Given the description of an element on the screen output the (x, y) to click on. 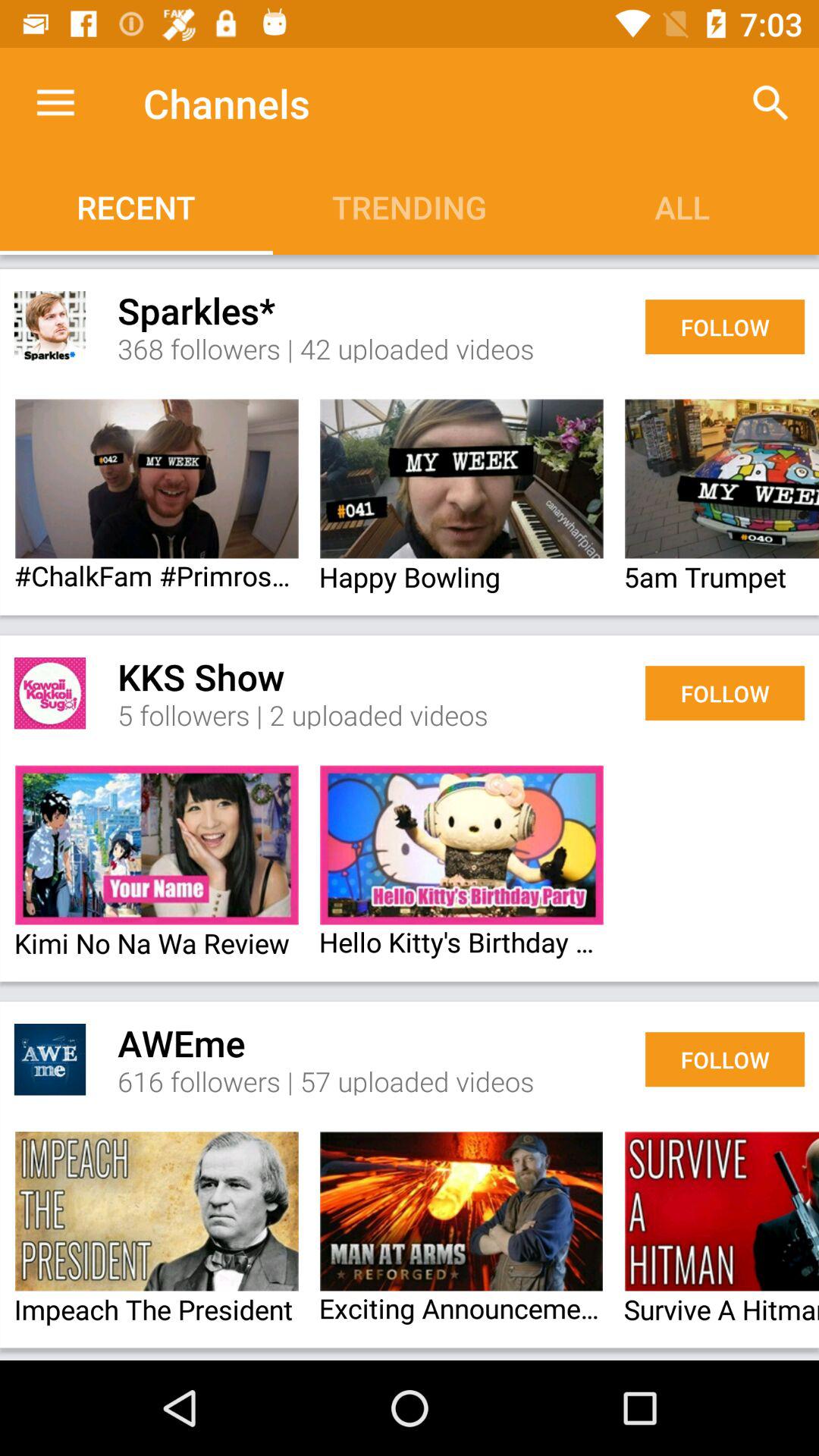
turn on the app to the right of channels icon (771, 103)
